Given the description of an element on the screen output the (x, y) to click on. 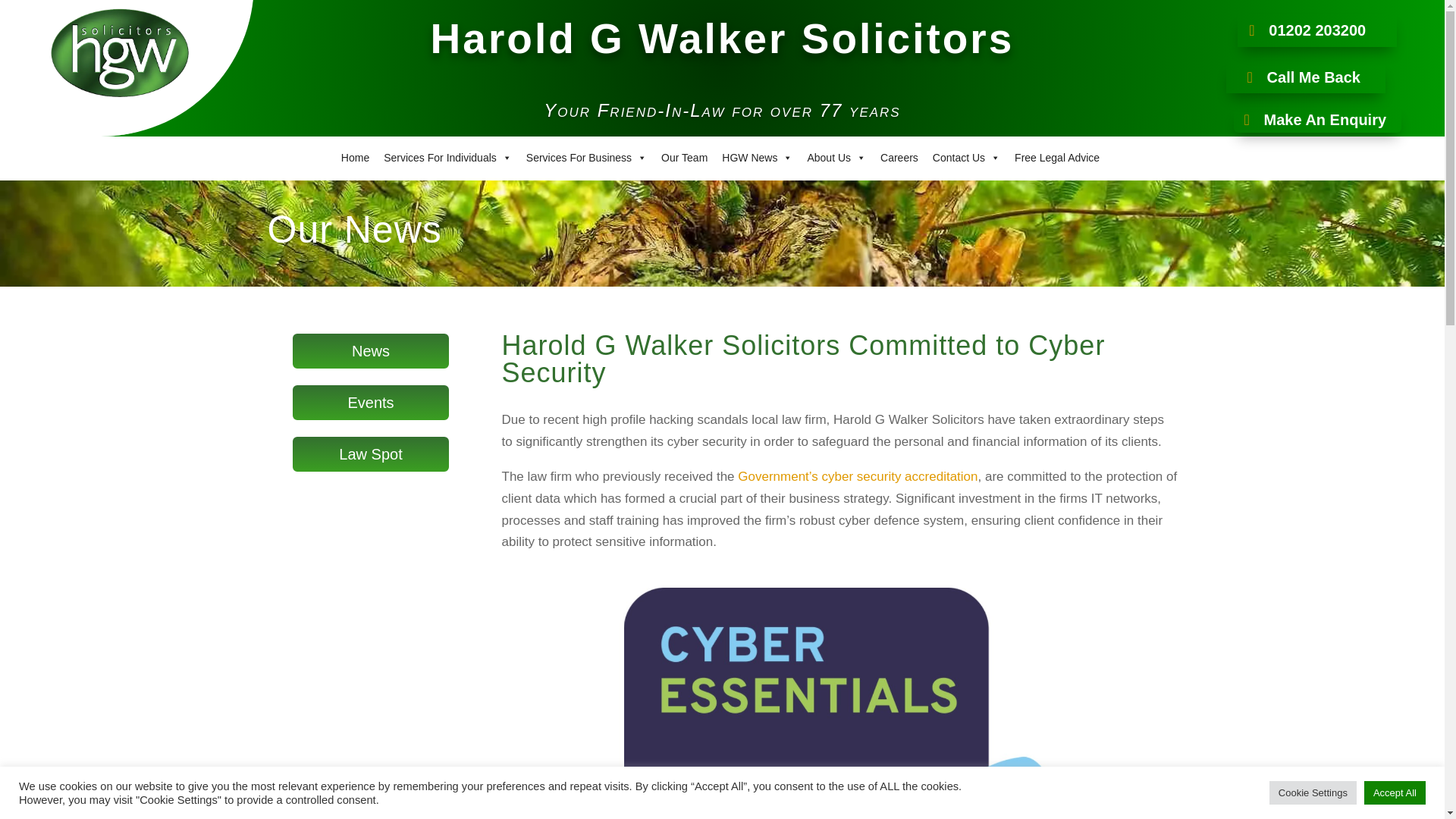
01202 203200 (1316, 29)
Harold G Walker (119, 53)
Home (355, 157)
Make An Enquiry (1317, 119)
Call Me Back (1305, 77)
Services For Individuals (447, 157)
